Given the description of an element on the screen output the (x, y) to click on. 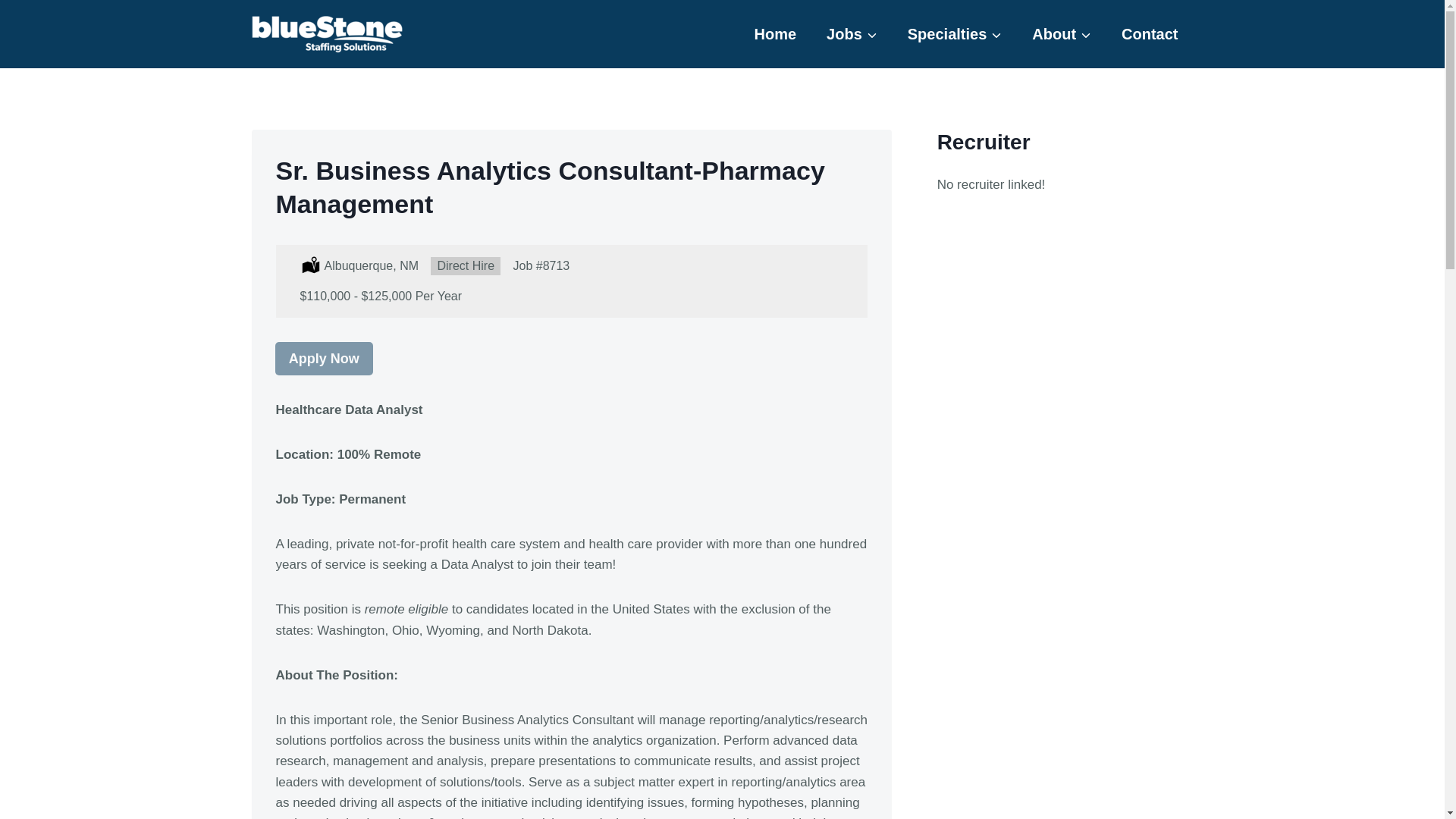
Jobs (851, 34)
About (1061, 34)
Apply Now (323, 358)
Home (774, 34)
Contact (1149, 34)
Specialties (954, 34)
Apply Now (324, 359)
